Given the description of an element on the screen output the (x, y) to click on. 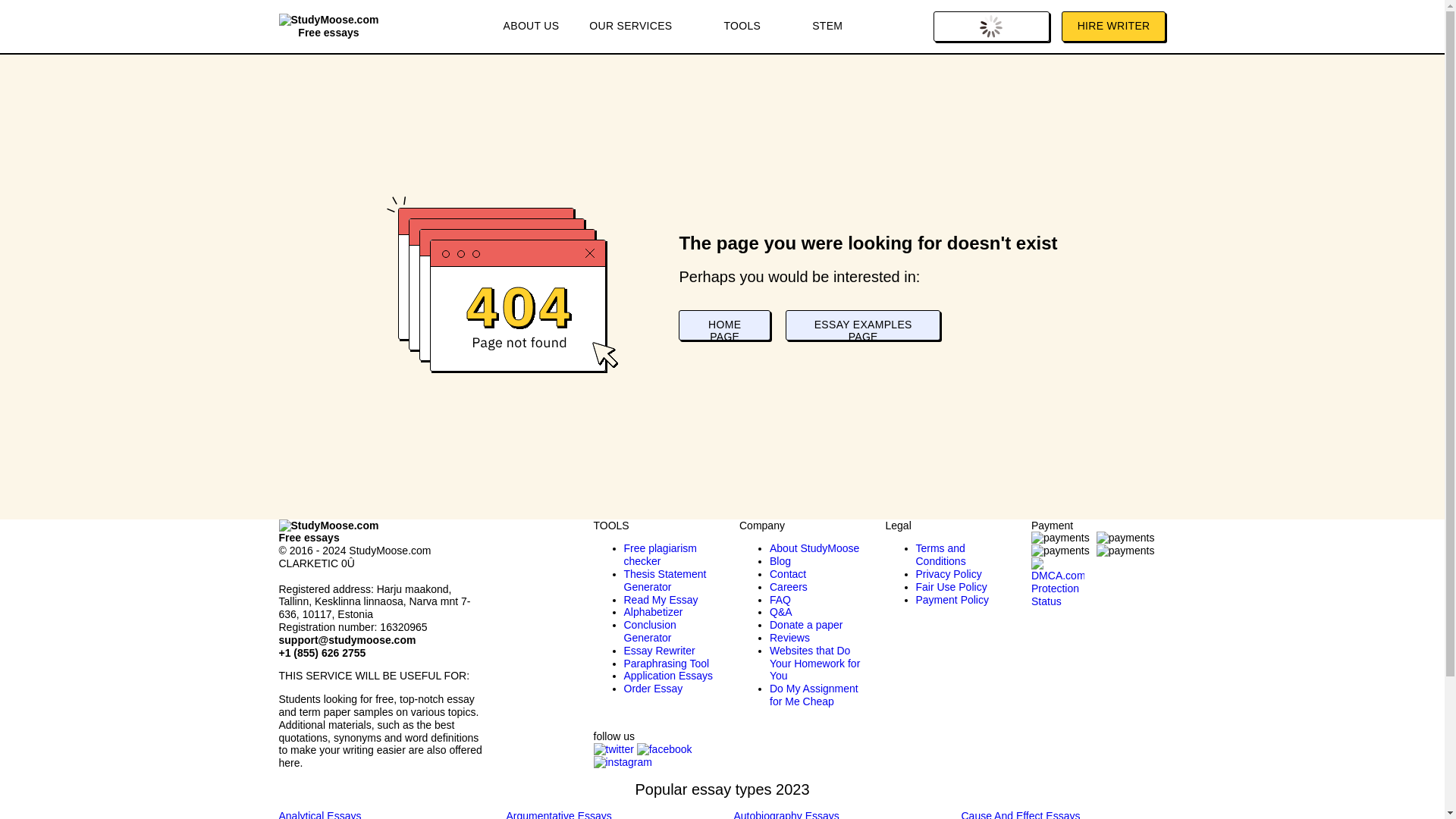
Order Essay (652, 688)
ESSAY EXAMPLES PAGE (863, 325)
Reviews (789, 637)
Careers (789, 586)
DMCA.com Protection Status (1057, 570)
TOOLS (751, 26)
STEM (826, 26)
Websites that Do Your Homework for You (815, 663)
FAQ (780, 599)
Blog (780, 561)
